Given the description of an element on the screen output the (x, y) to click on. 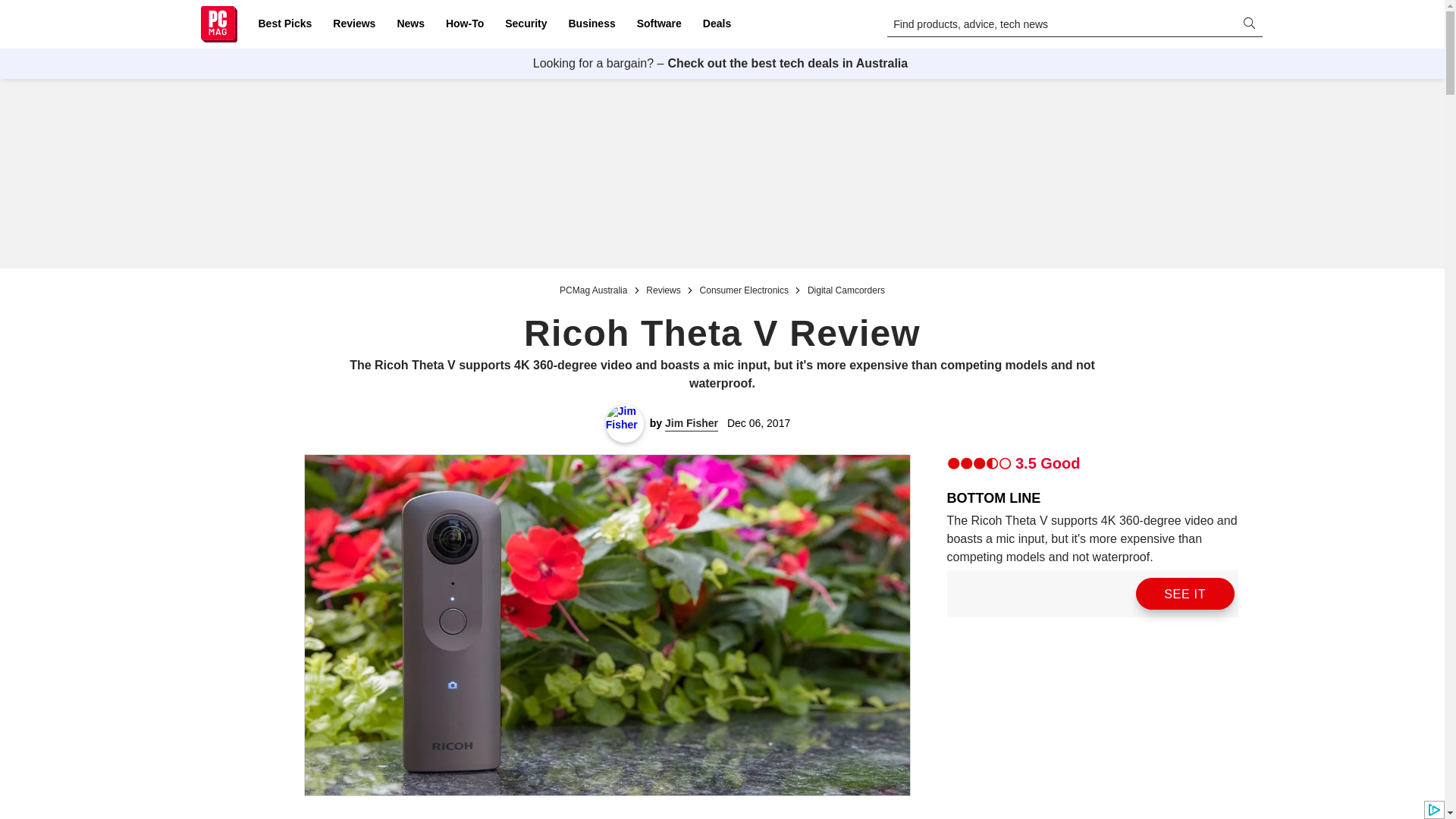
Security (526, 24)
Business (591, 24)
How-To (464, 24)
Best Picks (284, 24)
Reviews (353, 24)
